Given the description of an element on the screen output the (x, y) to click on. 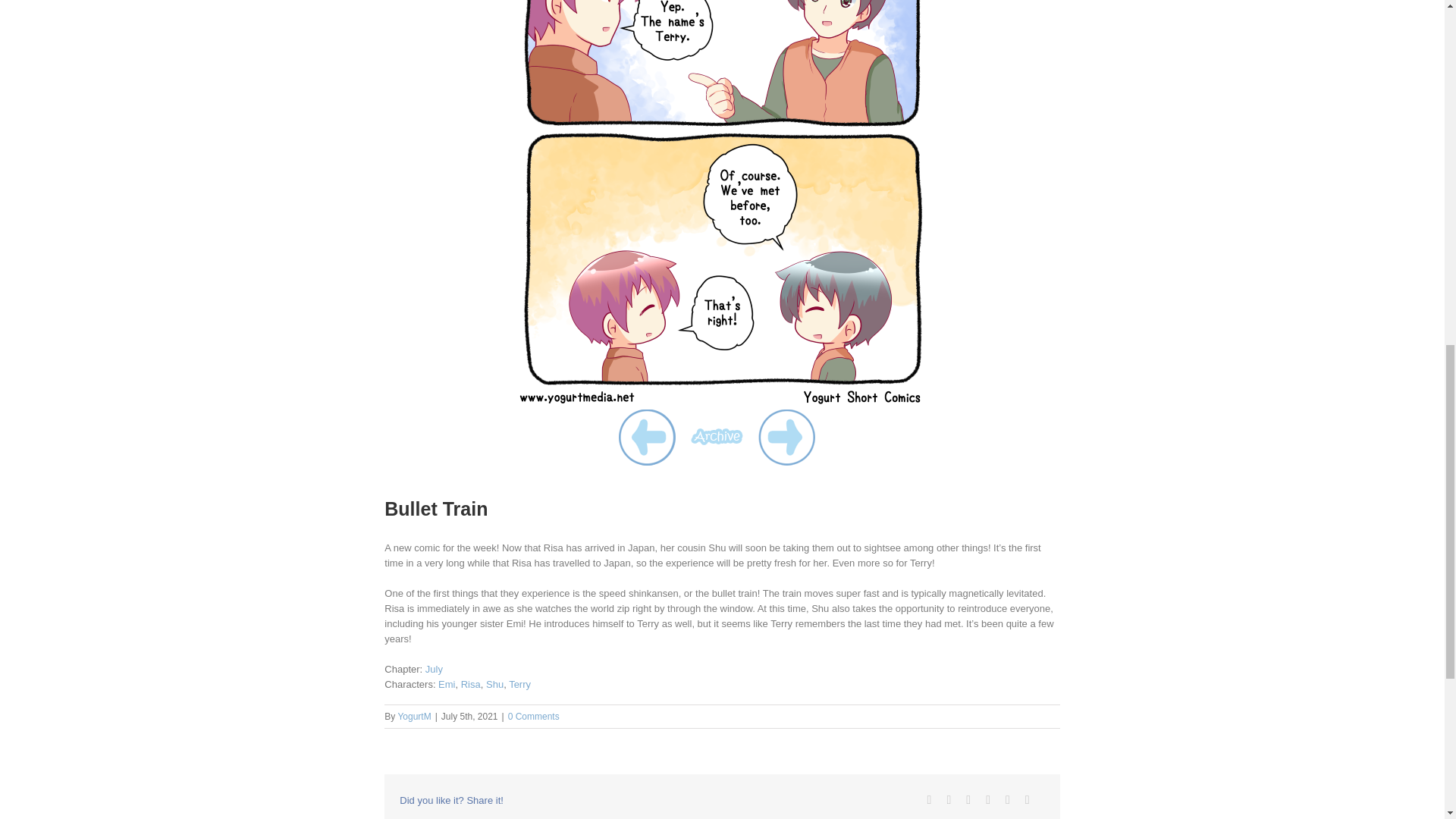
Posts by YogurtM (413, 716)
